Given the description of an element on the screen output the (x, y) to click on. 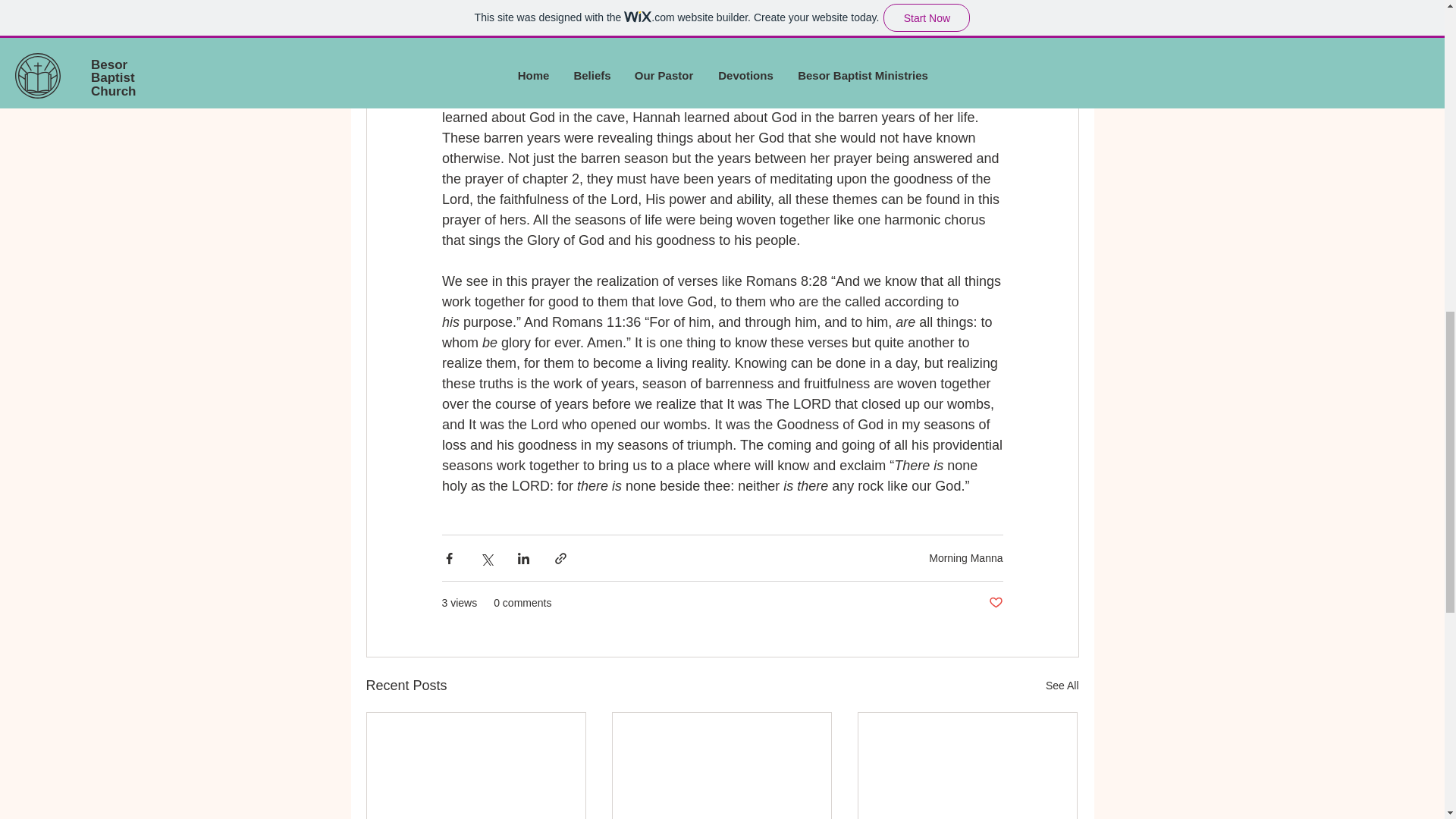
See All (1061, 685)
Post not marked as liked (995, 602)
Morning Manna (965, 558)
